Given the description of an element on the screen output the (x, y) to click on. 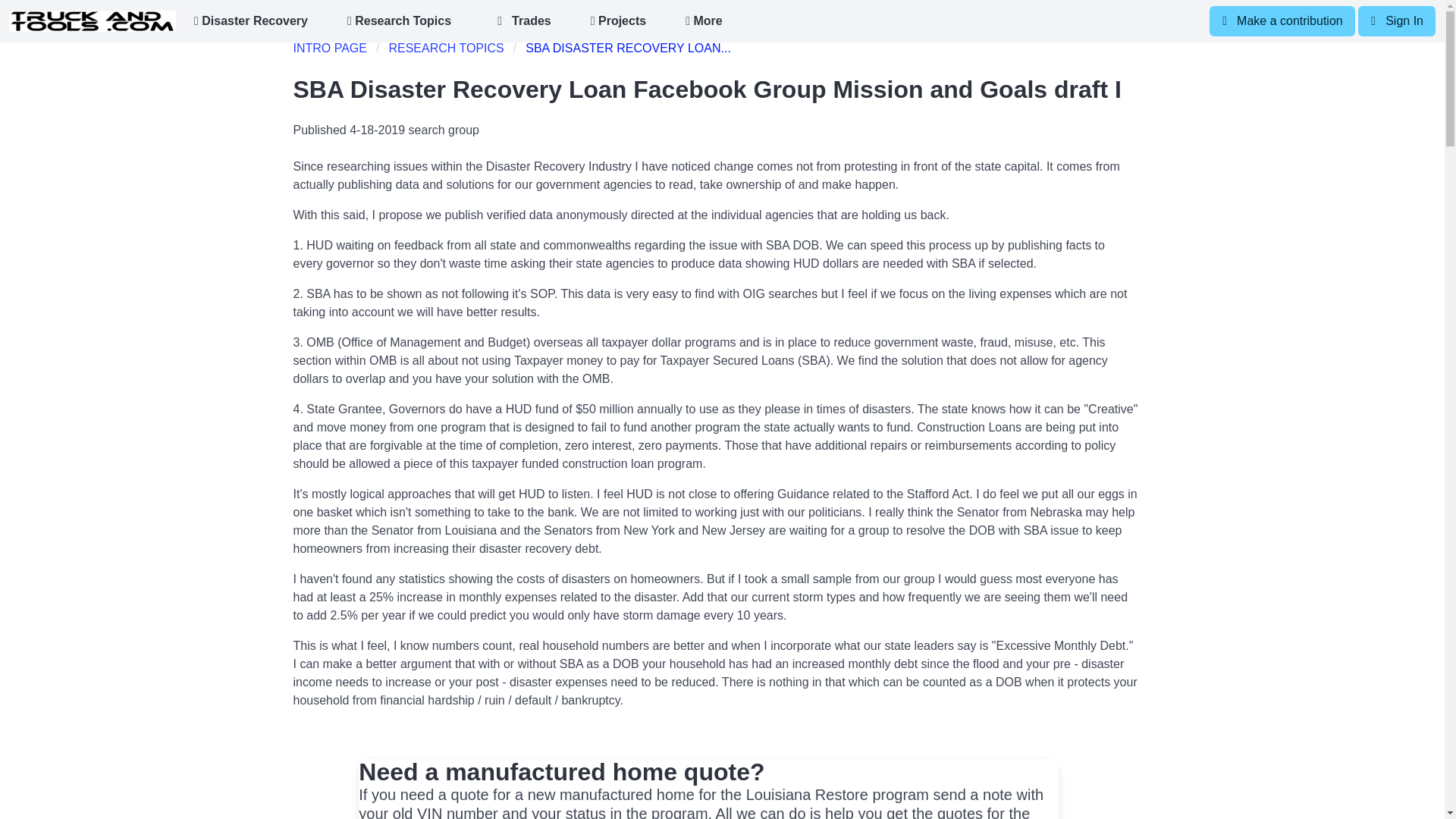
INTRO PAGE (333, 48)
SBA DISASTER RECOVERY LOAN... (627, 48)
RESEARCH TOPICS (445, 48)
